Given the description of an element on the screen output the (x, y) to click on. 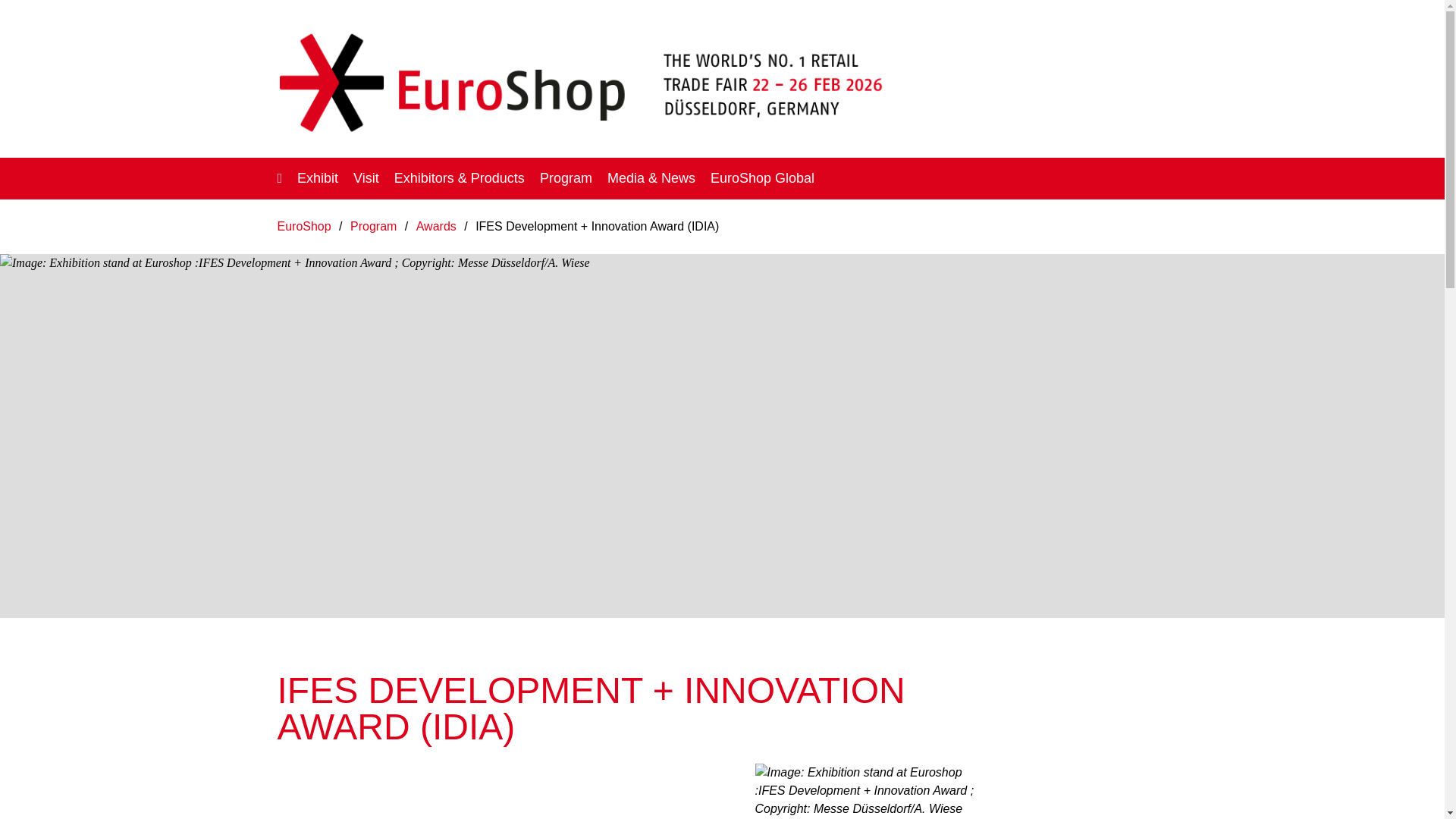
Visit (365, 177)
Exhibit (317, 177)
Exhibit (317, 177)
